Given the description of an element on the screen output the (x, y) to click on. 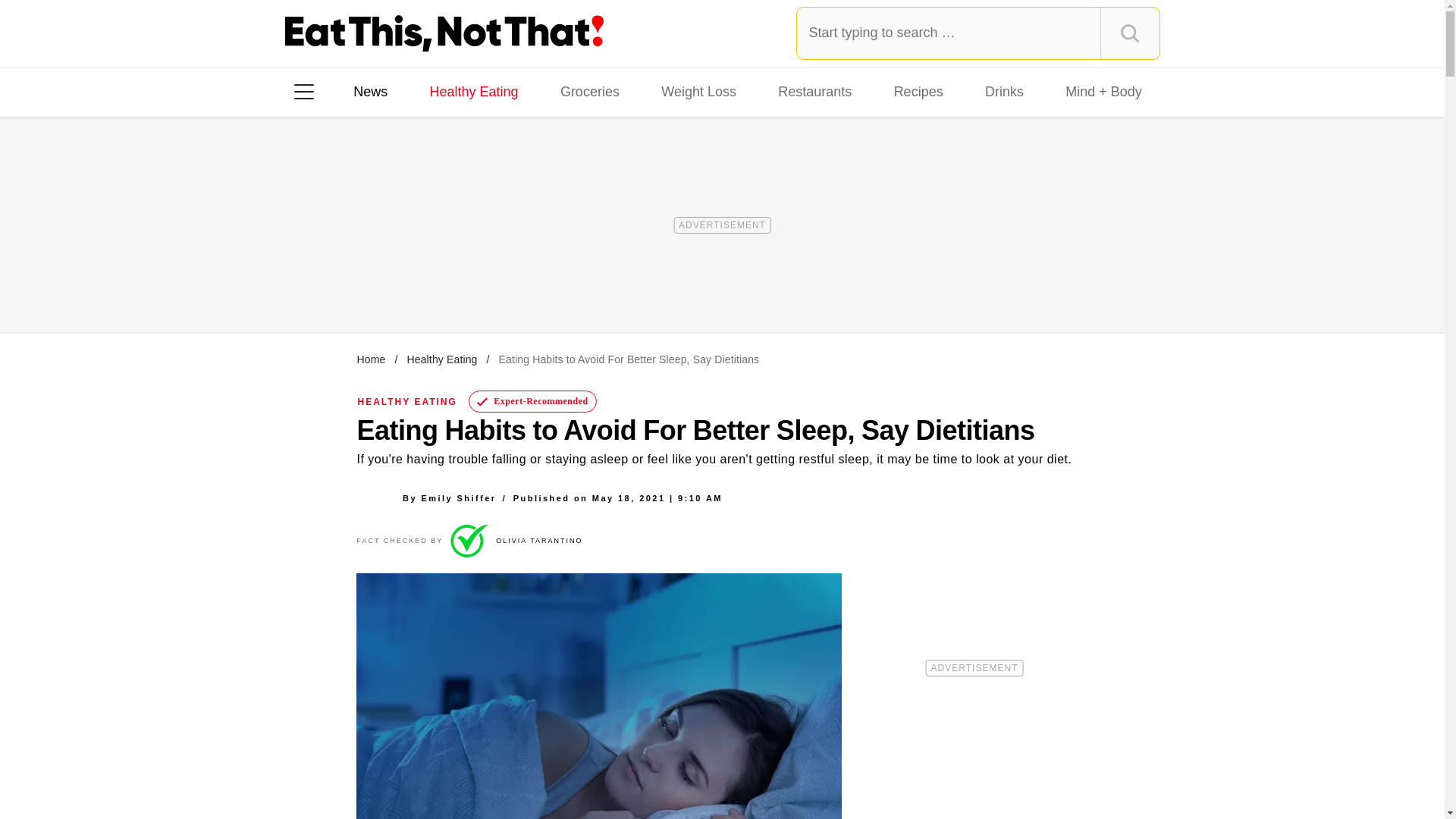
Eat This Not That Homepage (444, 33)
Healthy Eating (441, 358)
Home (370, 358)
Groceries (590, 91)
Weight Loss (698, 91)
Facebook (314, 287)
Restaurants (814, 91)
Expert-Recommended (532, 401)
Posts by Emily Shiffer (458, 497)
Instagram (357, 287)
